Given the description of an element on the screen output the (x, y) to click on. 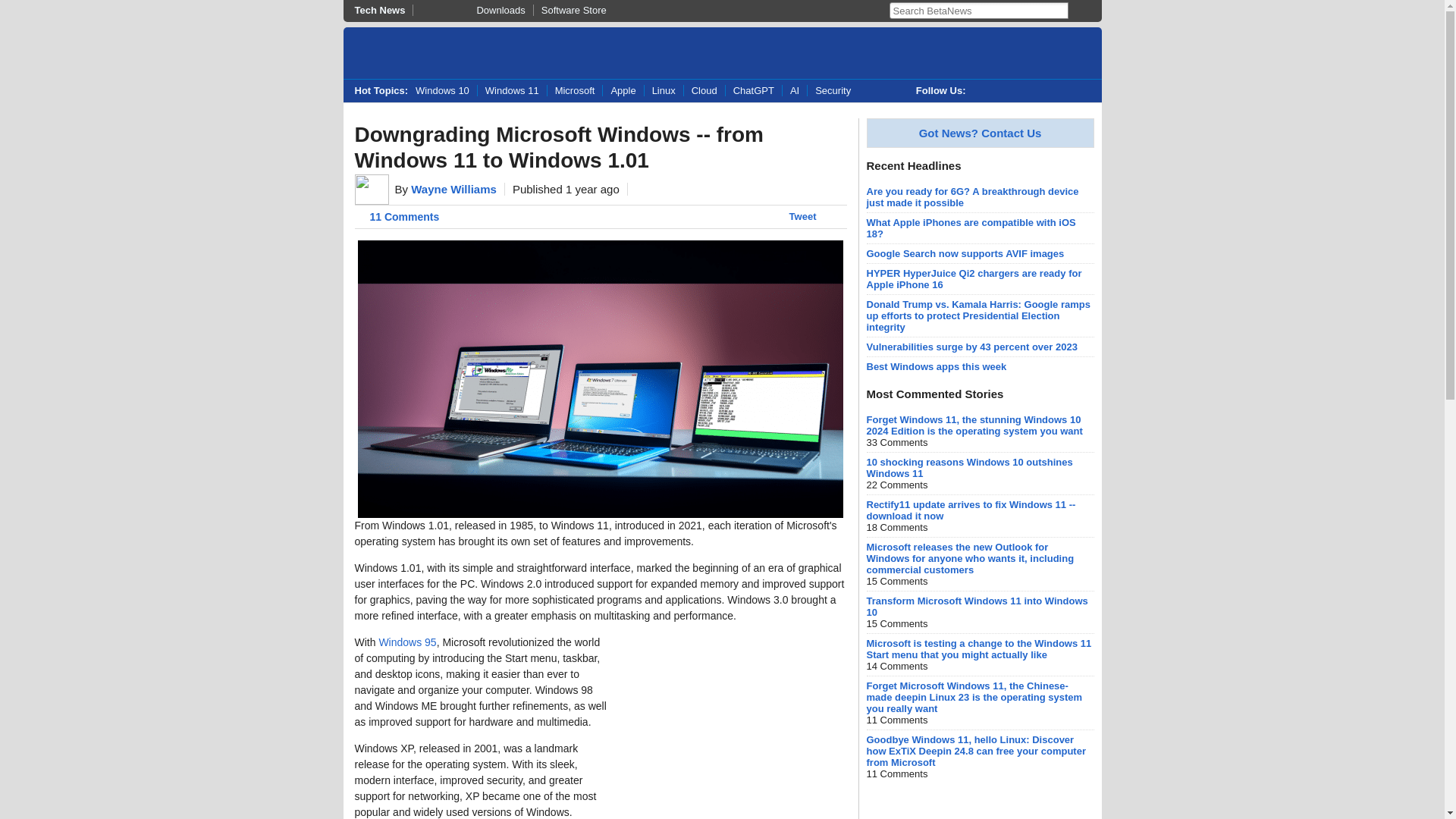
Vulnerabilities surge by 43 percent over 2023 (971, 346)
Windows 95 (406, 642)
Search (1076, 10)
Linked-in (1046, 91)
Search (1076, 10)
ChatGPT (753, 90)
Google Search now supports AVIF images (965, 253)
Apple (622, 90)
